Given the description of an element on the screen output the (x, y) to click on. 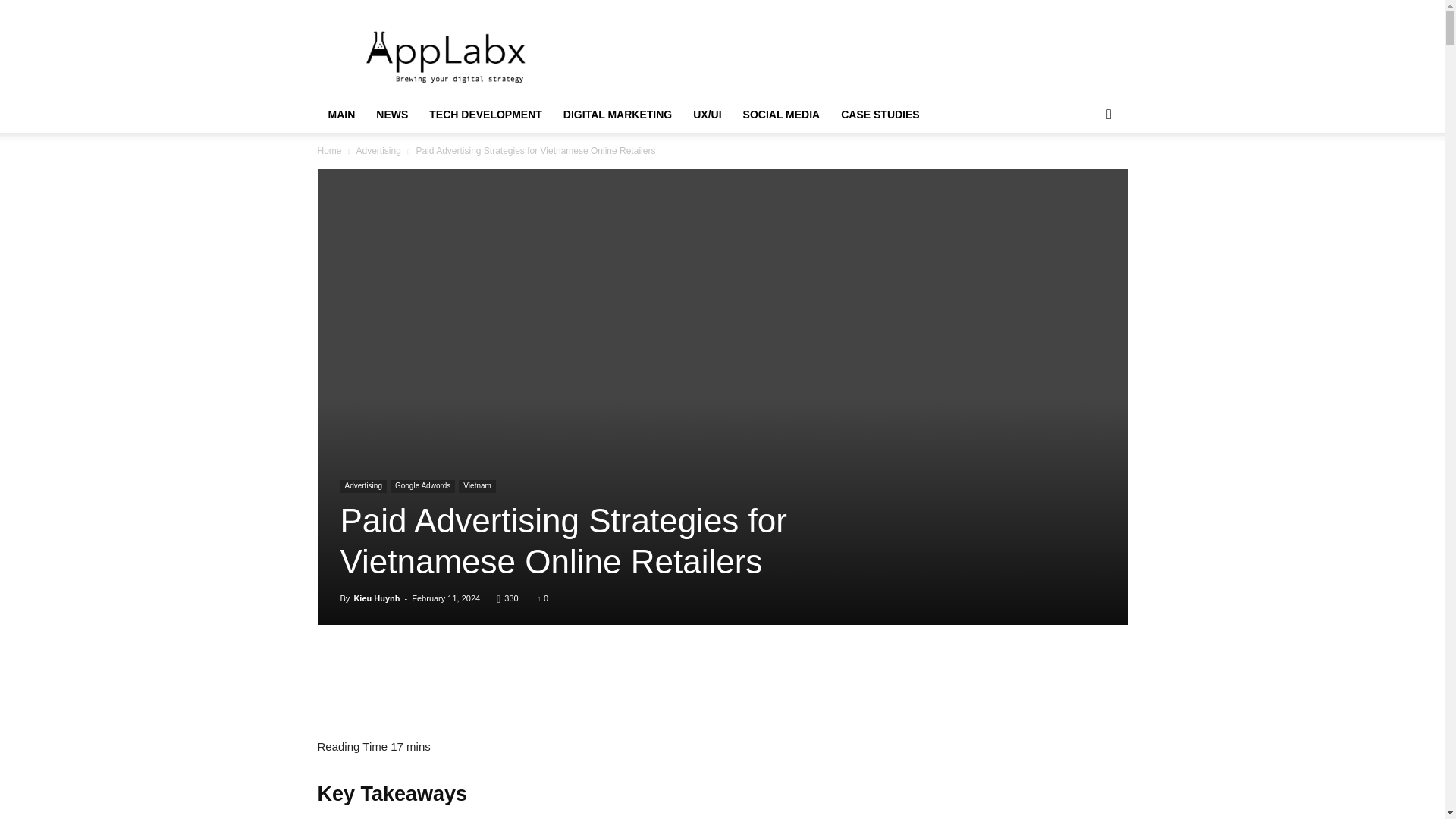
AppLabx - Digital Marketing and Web Agency (445, 55)
